Given the description of an element on the screen output the (x, y) to click on. 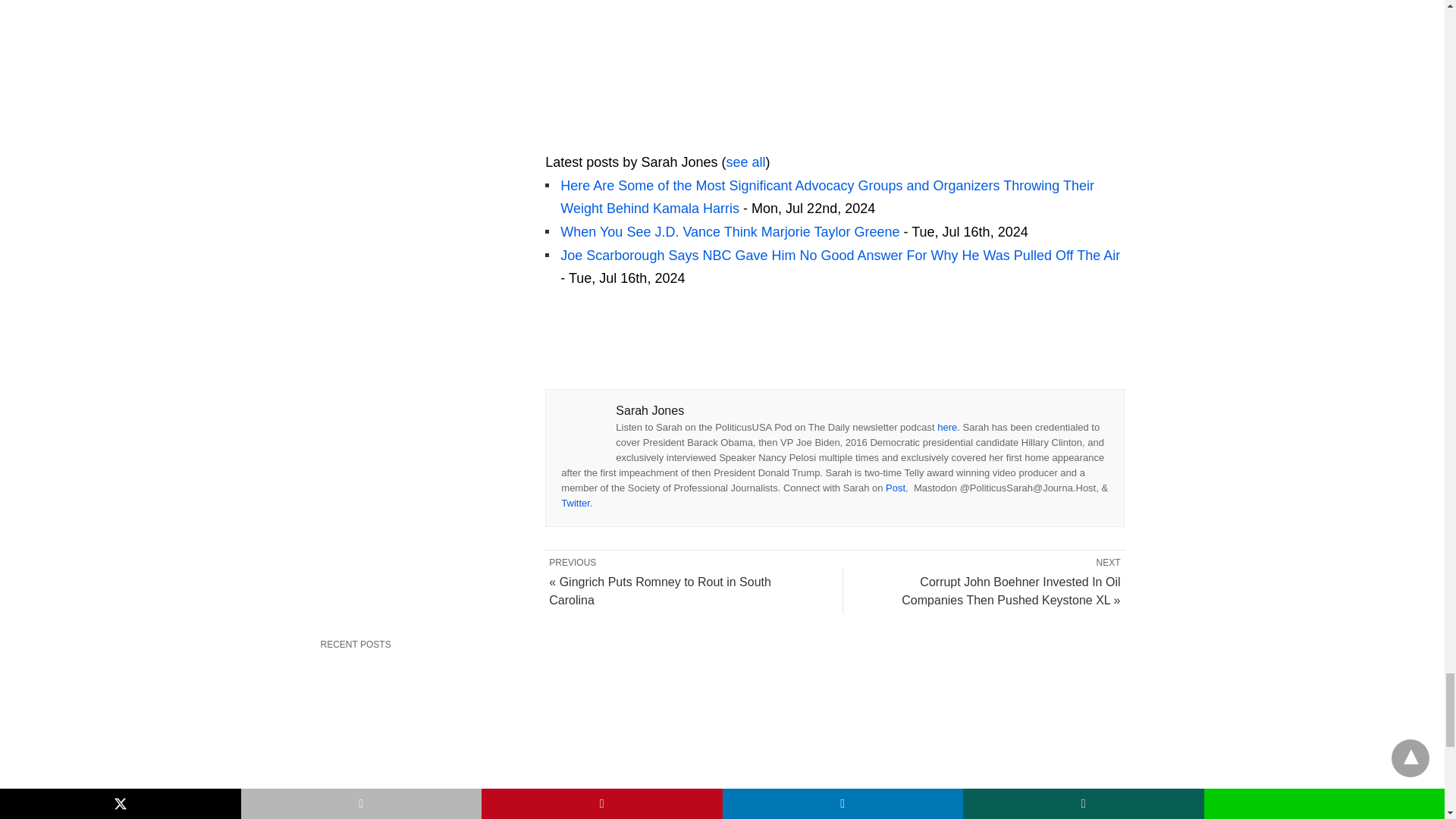
Twitter. (576, 502)
Sarah Jones (639, 139)
see all (745, 161)
here (946, 427)
Post (895, 487)
When You See J.D. Vance Think Marjorie Taylor Greene (729, 231)
